Given the description of an element on the screen output the (x, y) to click on. 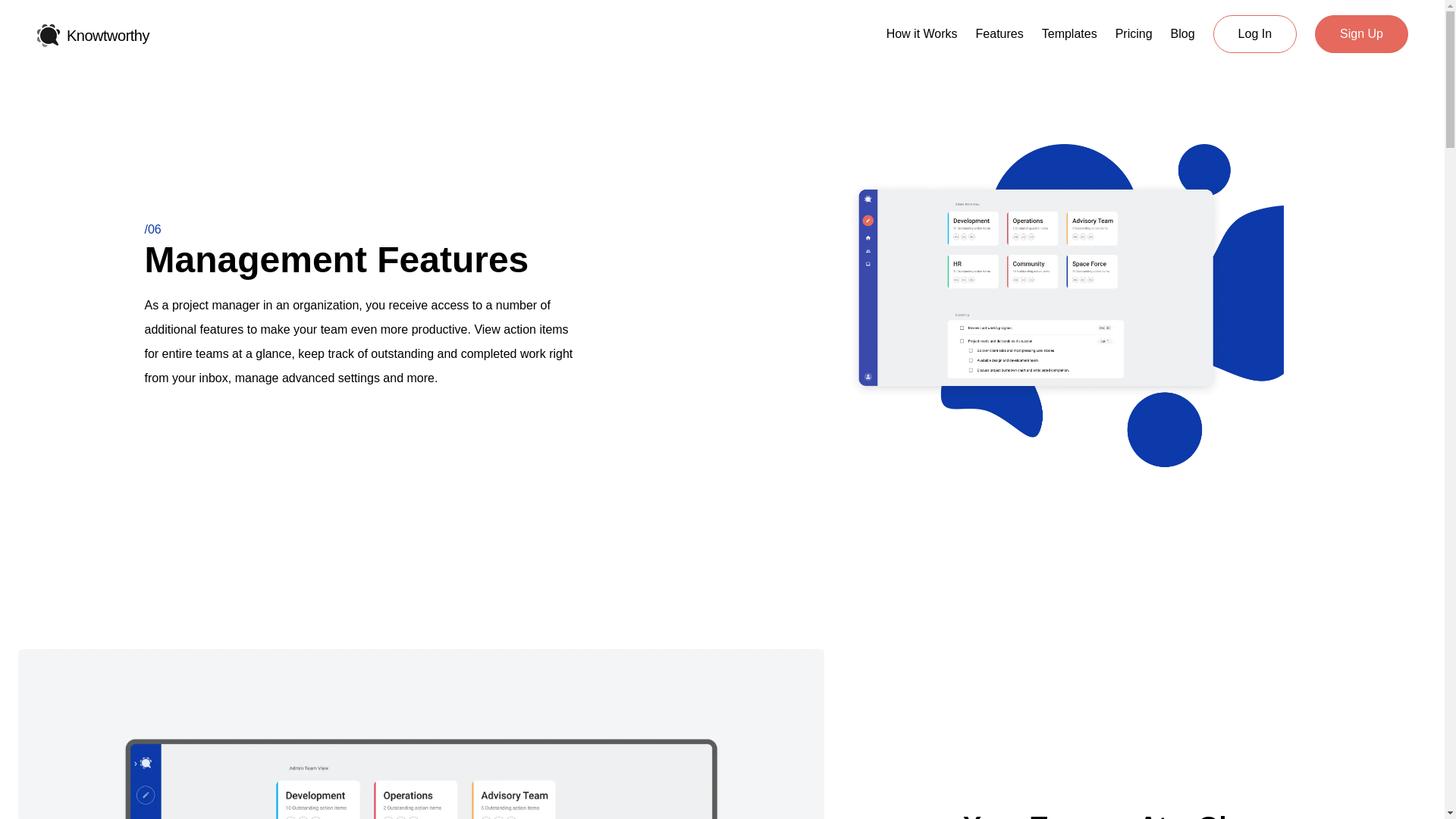
Knowtworthy (101, 35)
Features (999, 34)
Log In (1254, 34)
How it Works (922, 34)
Templates (1069, 34)
Pricing (1134, 34)
Blog (1182, 34)
Sign Up (1360, 34)
